Given the description of an element on the screen output the (x, y) to click on. 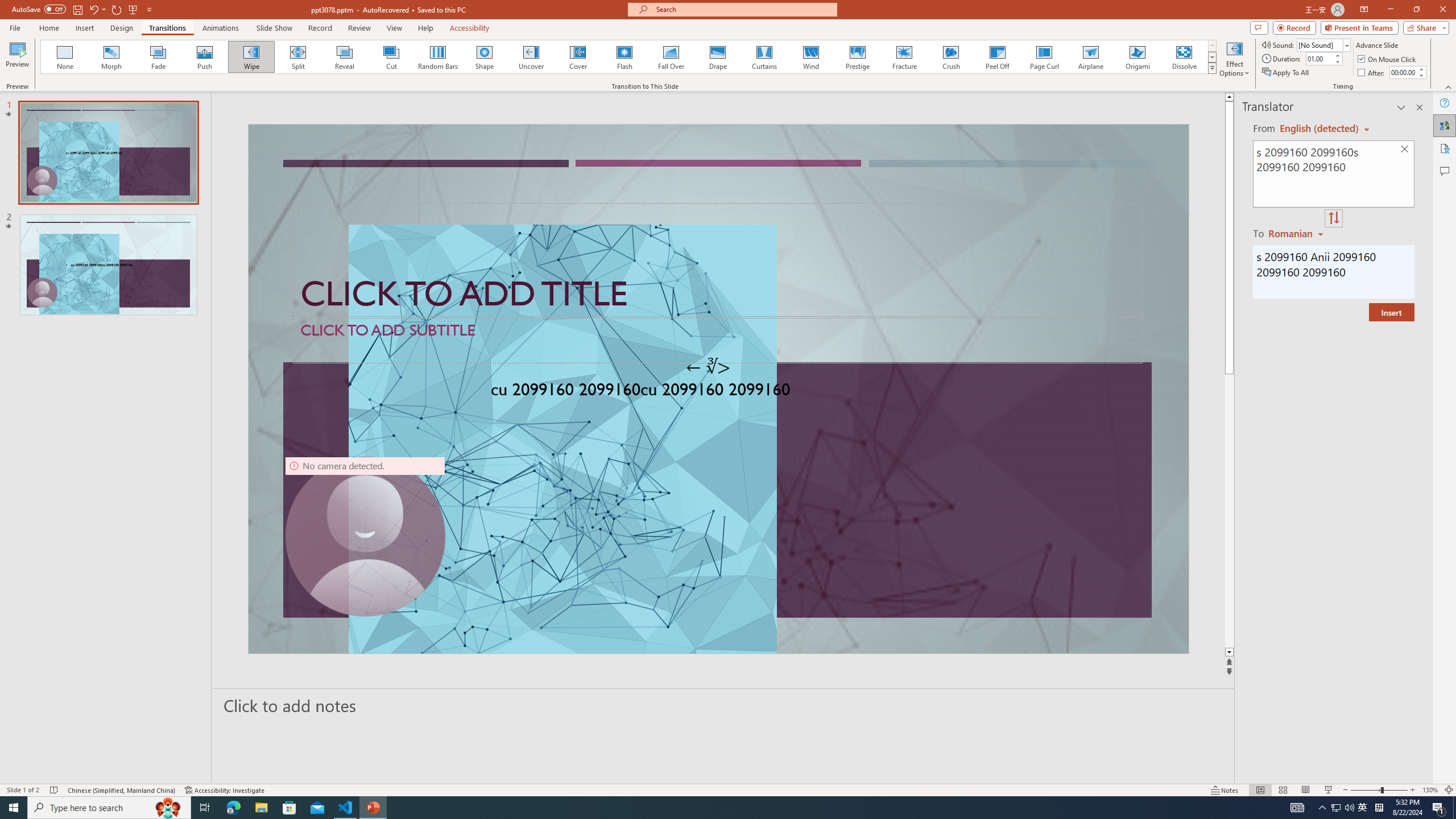
Title TextBox (717, 260)
On Mouse Click (1387, 58)
Shape (484, 56)
An abstract genetic concept (718, 388)
Preview (17, 58)
